Given the description of an element on the screen output the (x, y) to click on. 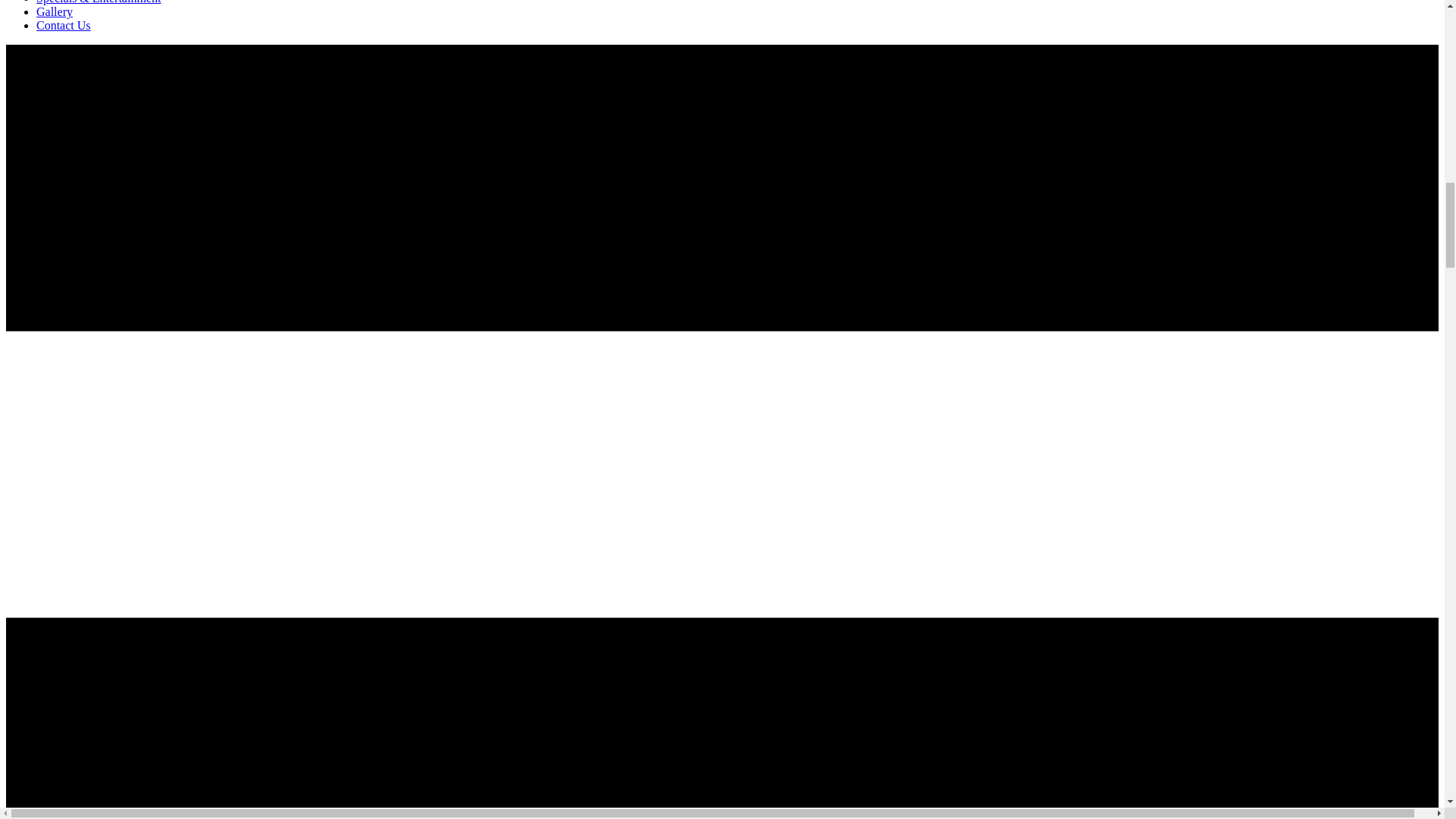
Gallery (54, 11)
Contact Us (63, 24)
